Given the description of an element on the screen output the (x, y) to click on. 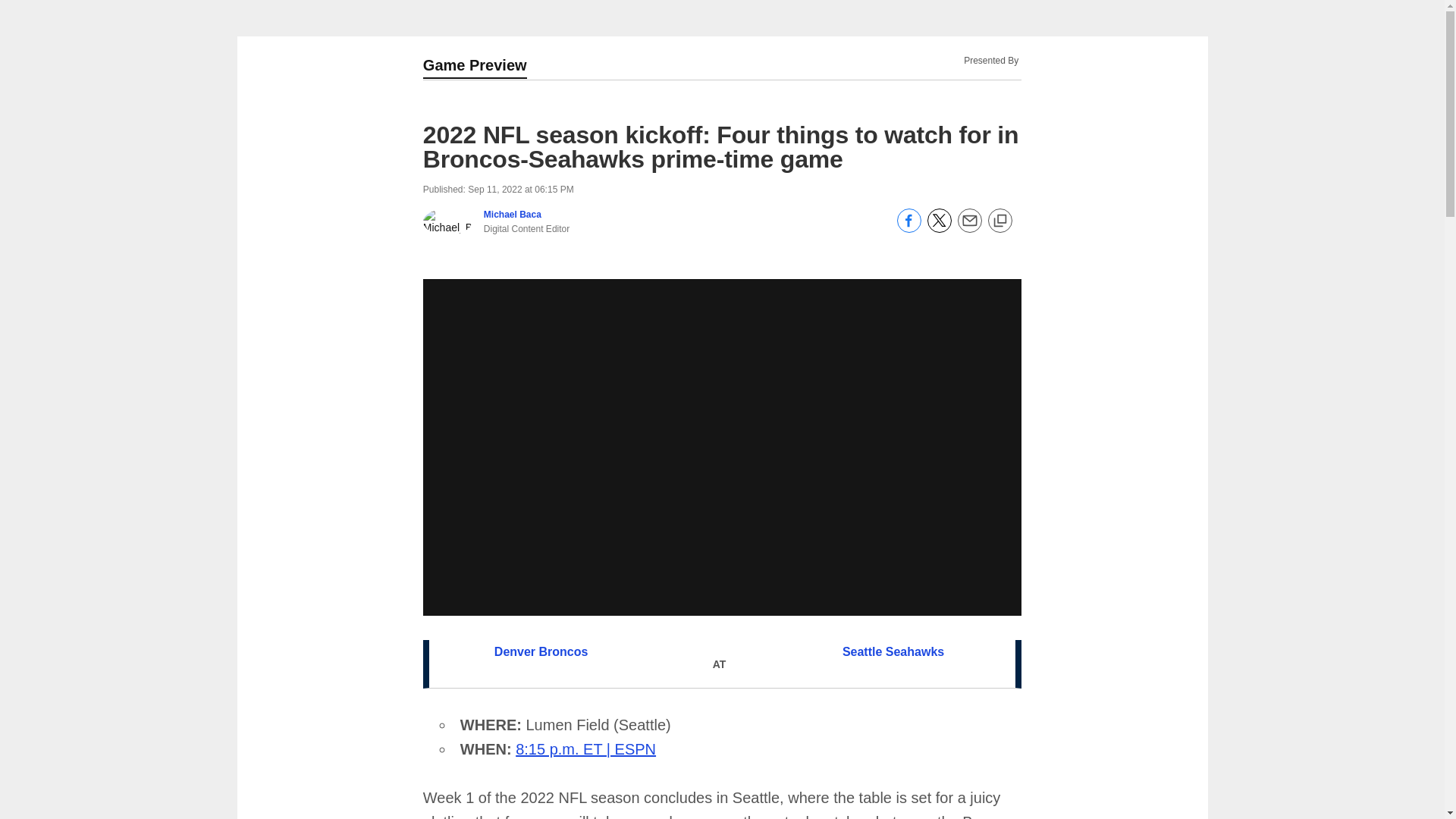
Send email (969, 228)
Seattle Seahawks (893, 651)
Copy link (999, 221)
Denver Broncos (541, 651)
Denver Broncos (541, 651)
Michael Baca (512, 214)
Share on Twitter (939, 228)
Seattle Seahawks (893, 651)
Share on Facebook (908, 228)
